Given the description of an element on the screen output the (x, y) to click on. 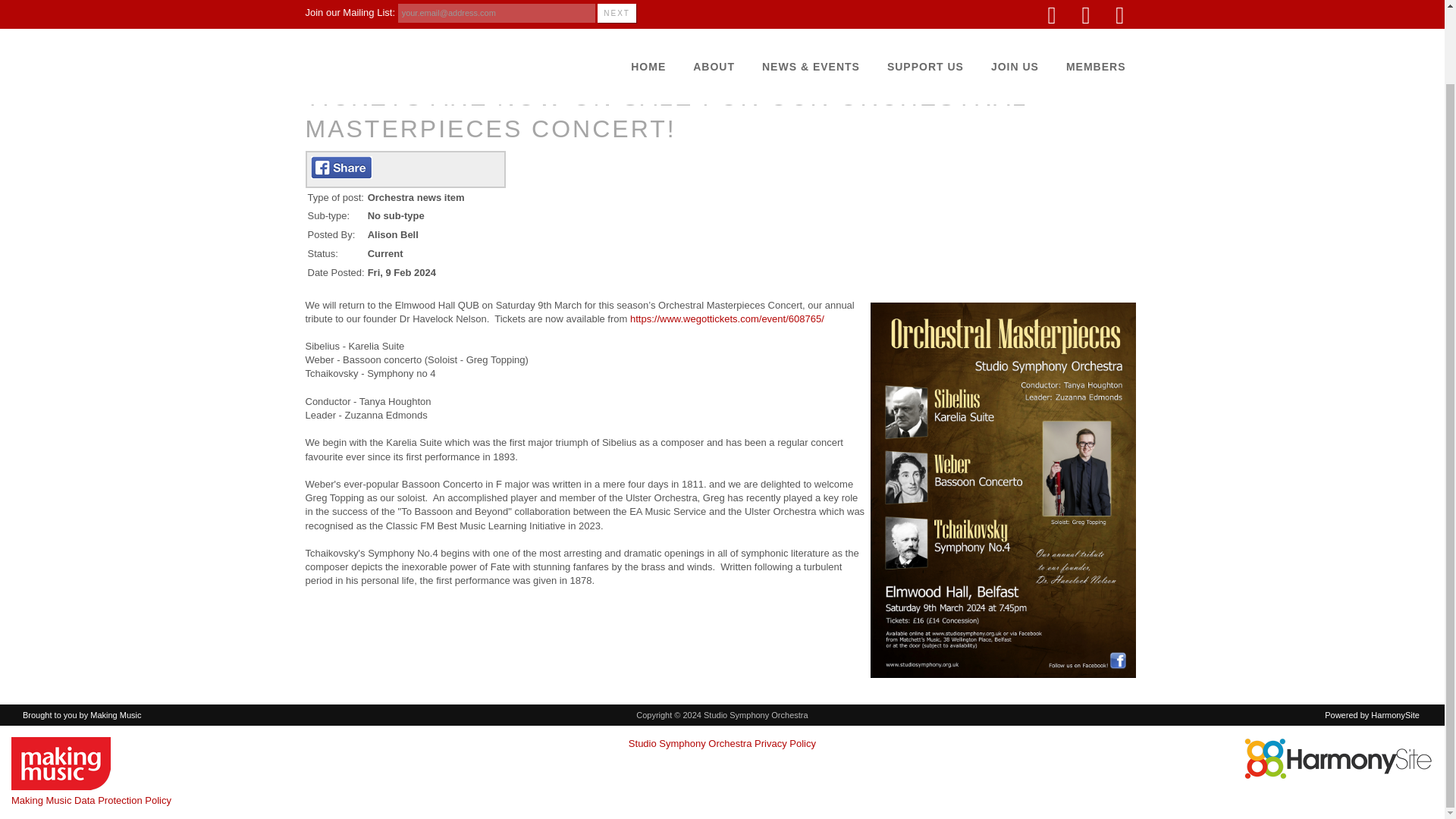
Powered by HarmonySite (1337, 758)
ABOUT (713, 11)
JOIN US (1014, 11)
MEMBERS (1096, 11)
Brought to you by Making Music (60, 763)
HOME (648, 11)
SUPPORT US (924, 11)
